Given the description of an element on the screen output the (x, y) to click on. 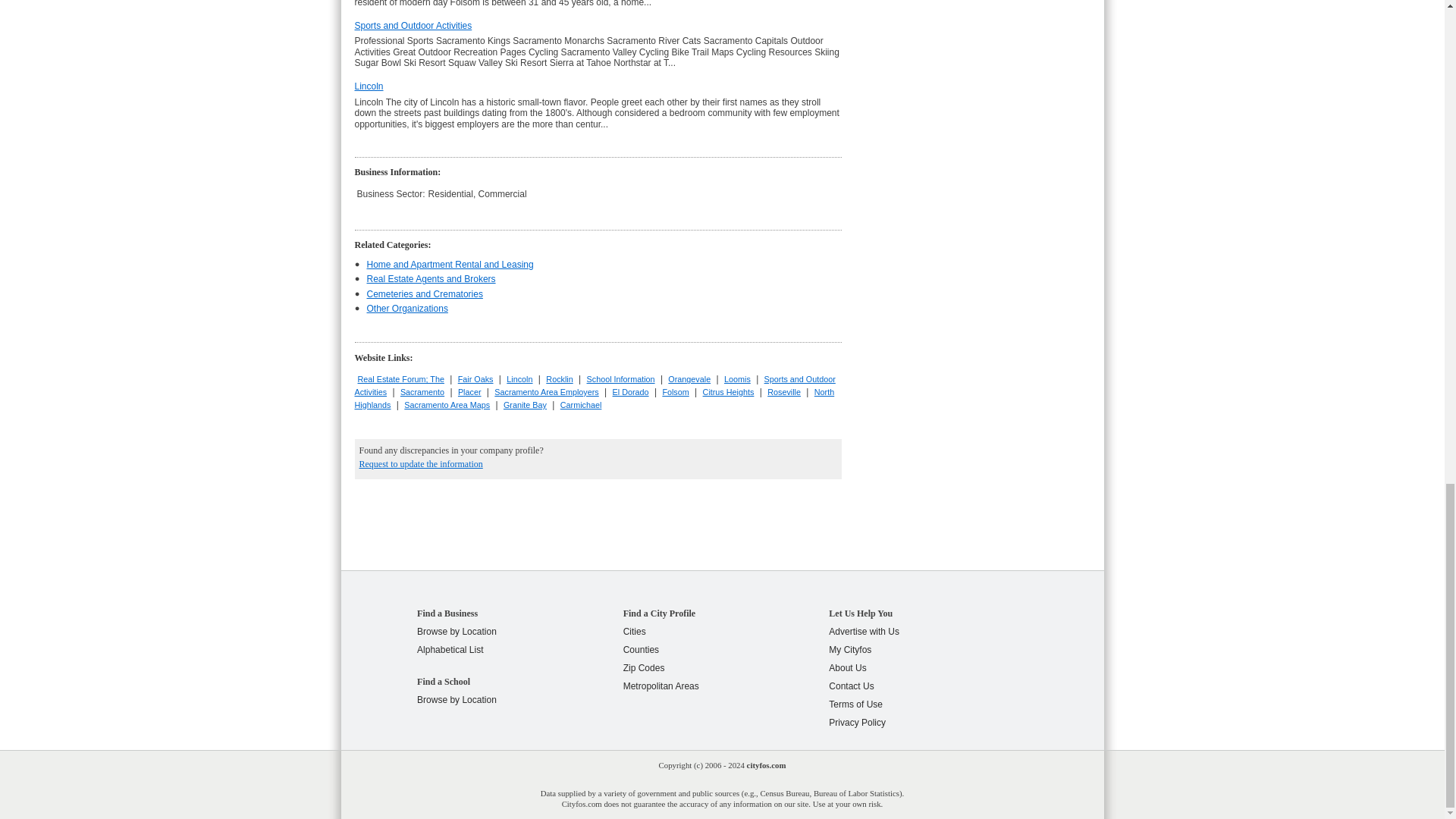
Rocklin (559, 379)
Orangevale (689, 379)
El Dorado (631, 391)
Cemeteries and Crematories (424, 294)
Real Estate Agents and Brokers (431, 278)
Real Estate Forum; The (400, 379)
Loomis (737, 379)
Sacramento Area Maps (447, 404)
Citrus Heights (728, 391)
School Information (620, 379)
